Given the description of an element on the screen output the (x, y) to click on. 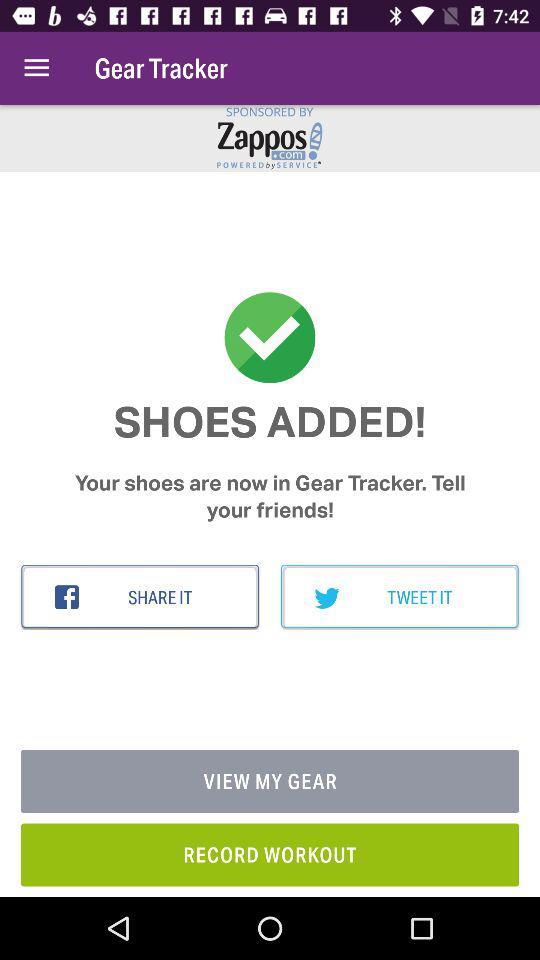
launch the icon above the record workout item (270, 781)
